Given the description of an element on the screen output the (x, y) to click on. 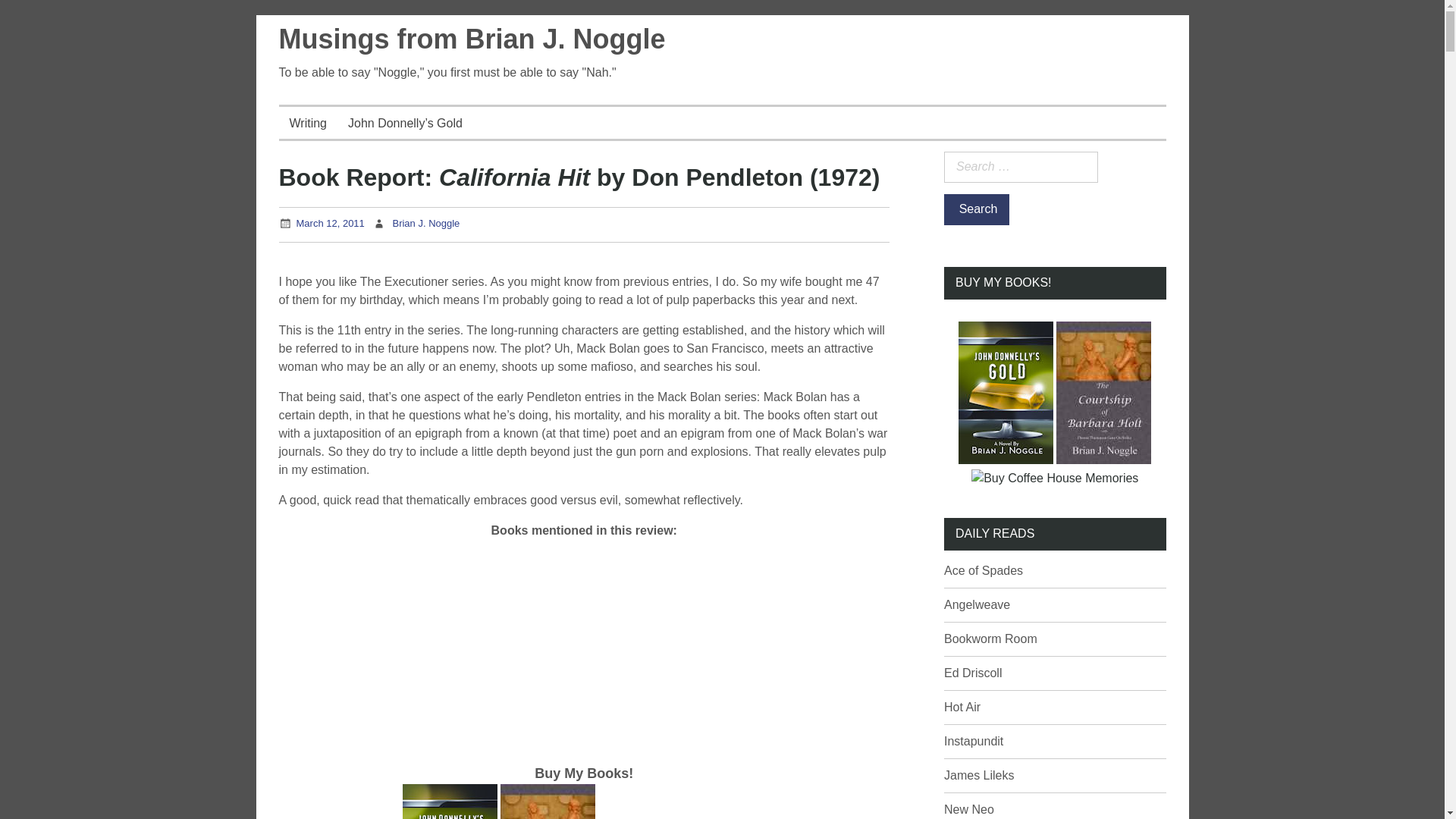
Angelweave (976, 604)
Search (976, 209)
James Lileks (978, 775)
Brian J. Noggle (425, 223)
Instapundit (973, 740)
Writing (308, 122)
Ace of Spades (983, 570)
Ed Driscoll (972, 672)
Hot Air (961, 707)
March 12, 2011 (329, 223)
